Given the description of an element on the screen output the (x, y) to click on. 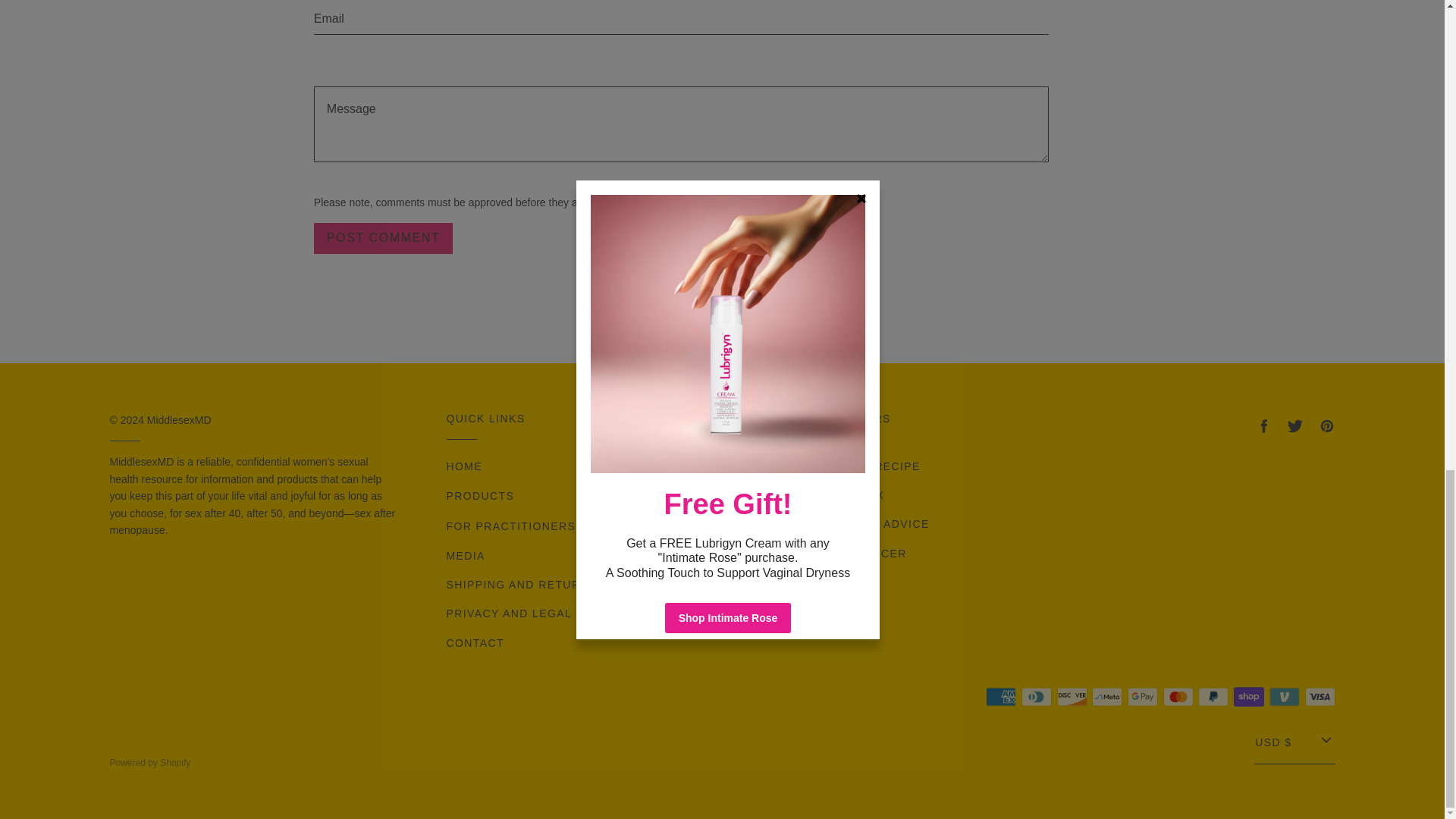
MiddlesexMD on Facebook (1263, 425)
Meta Pay (1107, 696)
PayPal (1213, 696)
American Express (1000, 696)
Mastercard (1178, 696)
Shop Pay (1248, 696)
Google Pay (1141, 696)
MiddlesexMD on Pinterest (1326, 425)
Diners Club (1036, 696)
Discover (1072, 696)
MiddlesexMD on Twitter (1295, 425)
Post comment (383, 237)
